Given the description of an element on the screen output the (x, y) to click on. 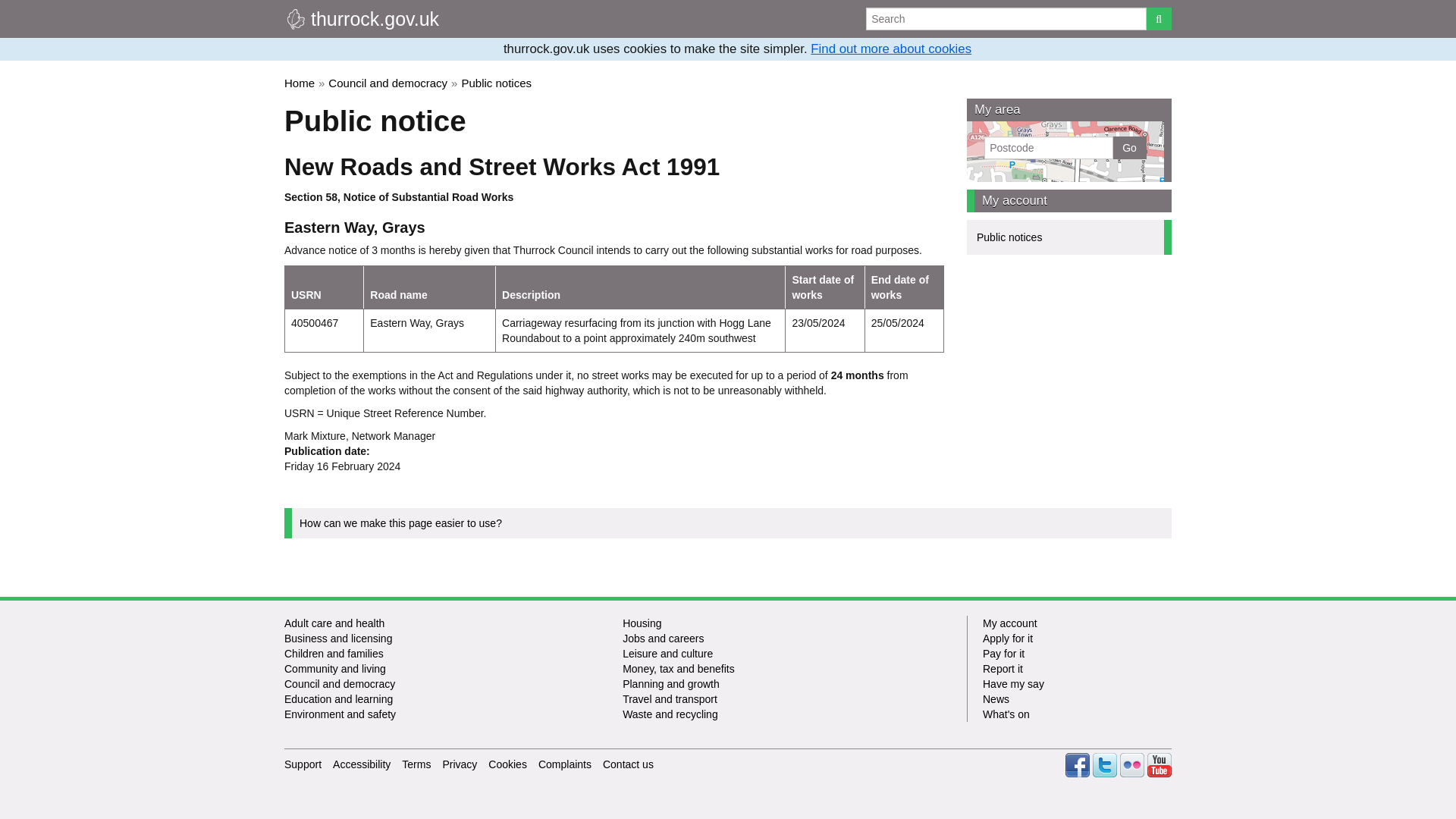
Public notices (496, 82)
Environment and safety (339, 714)
Jobs and careers (663, 638)
Council and democracy (387, 82)
Pay for it (1077, 653)
Money, tax and benefits (679, 668)
News (1077, 698)
Thurrock Council on Twitter (1104, 764)
Waste and recycling (670, 714)
Home (361, 18)
Community and living (334, 668)
Search (1006, 18)
Have my say (1077, 683)
Privacy (459, 764)
Adult care and health (333, 623)
